Given the description of an element on the screen output the (x, y) to click on. 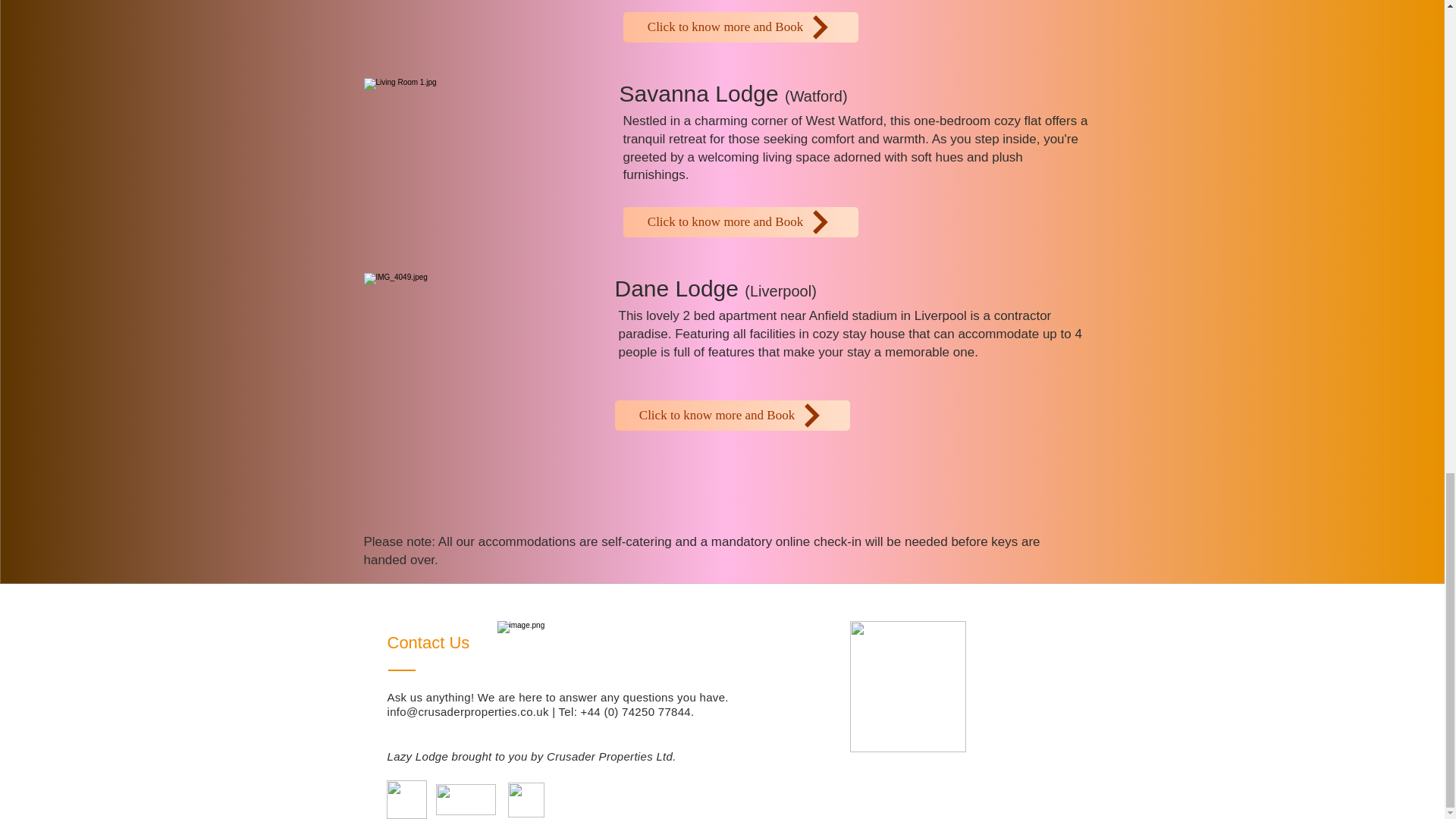
White-and-Black-Photography-Logo-300x300 (526, 799)
Contact Us  (430, 642)
prs-logo-e1588166920596.png (465, 798)
Click to know more and Book (731, 415)
Click to know more and Book (741, 27)
Click to know more and Book (741, 222)
